Given the description of an element on the screen output the (x, y) to click on. 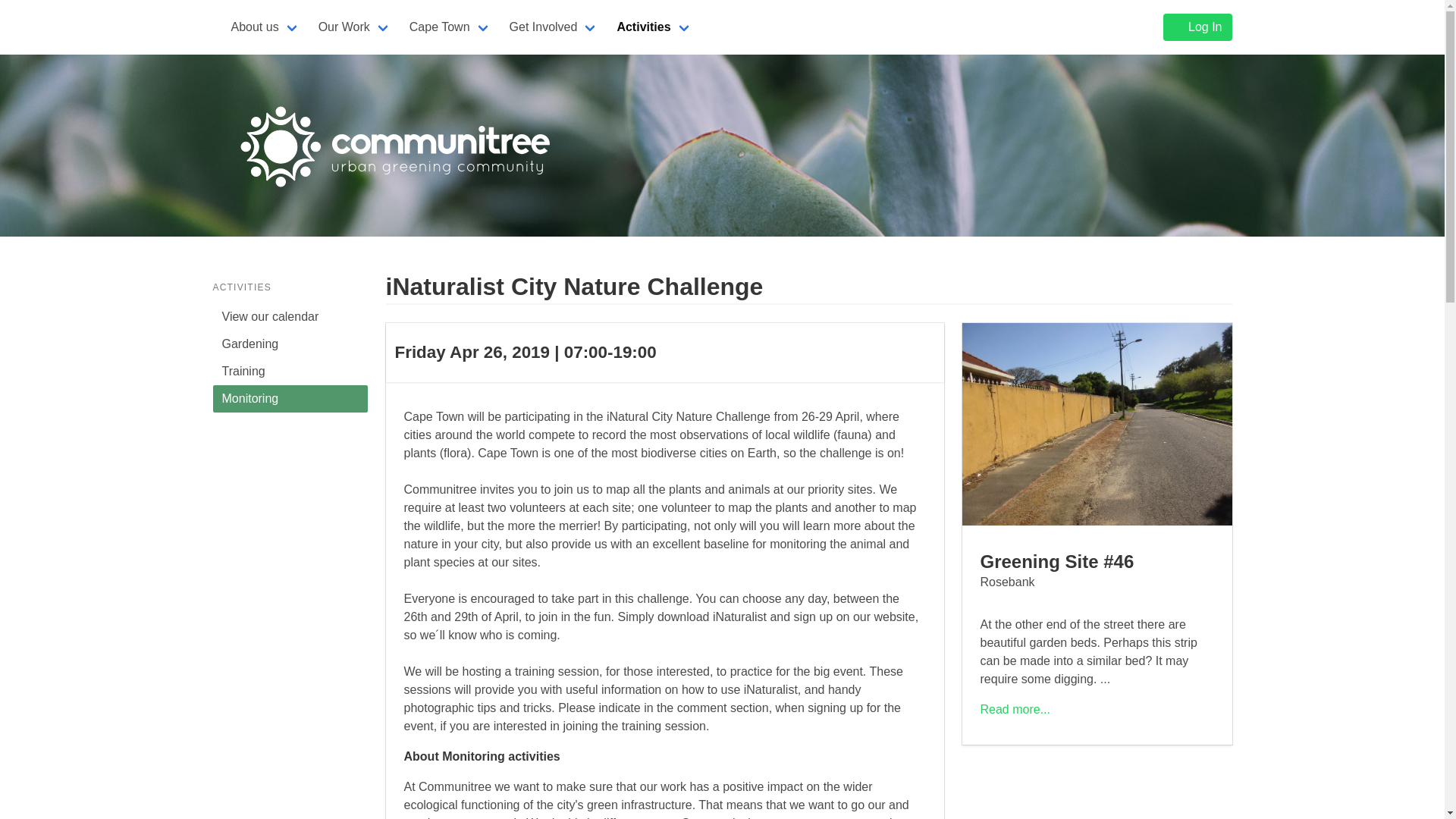
About us (264, 27)
Log In (1197, 26)
Activities (653, 27)
Get Involved (554, 27)
Cape Town (450, 27)
Our Work (354, 27)
Gardening (289, 343)
View our calendar (289, 316)
